Given the description of an element on the screen output the (x, y) to click on. 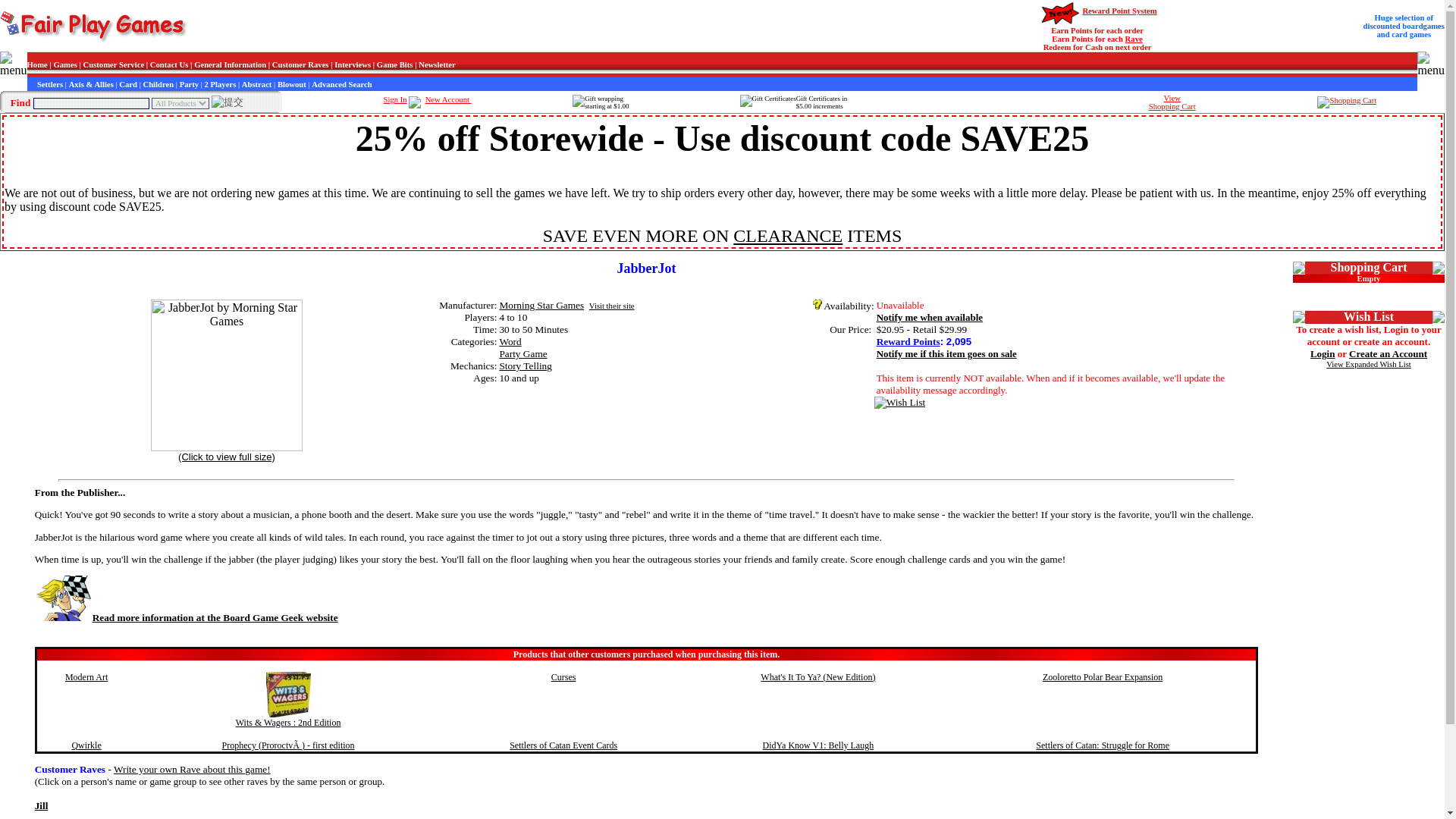
Party (188, 84)
CLEARANCE (788, 235)
Notify me when available (929, 317)
Home (37, 64)
Sign In (395, 99)
Customer Service (113, 64)
Party Game (523, 353)
Word (510, 341)
Contact Us (169, 64)
Advanced Search (341, 84)
2 Players (220, 84)
Rave (1133, 39)
Abstract (256, 84)
Newsletter (437, 64)
Card (127, 84)
